Given the description of an element on the screen output the (x, y) to click on. 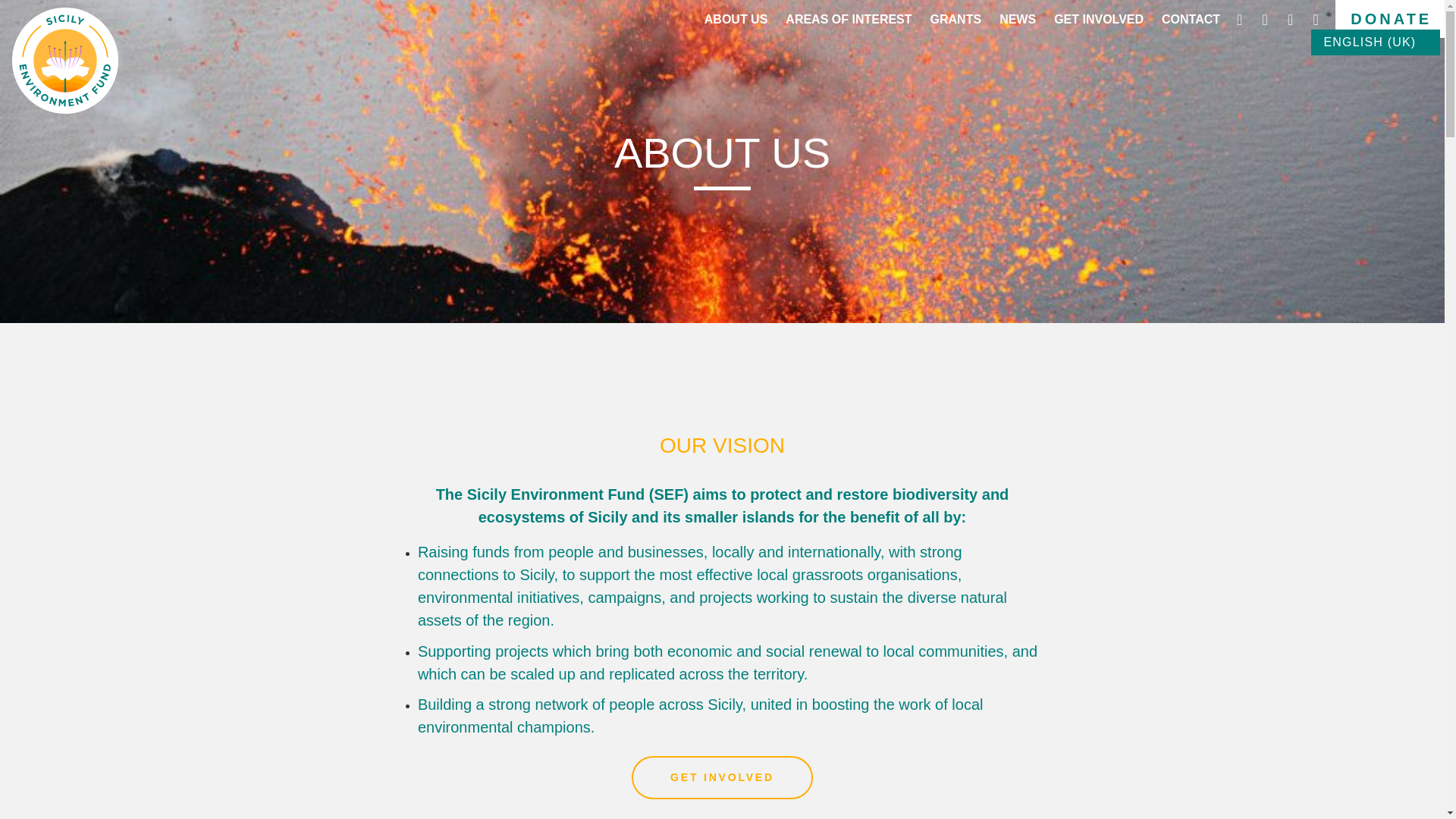
ITALIANO (1369, 68)
ABOUT US (736, 22)
twitter (1292, 19)
AREAS OF INTEREST (848, 22)
Italiano (1369, 68)
NEWS (1016, 22)
GET INVOLVED (721, 777)
GRANTS (955, 22)
instagram (1241, 19)
GET INVOLVED (1098, 22)
linkedin (1315, 19)
facebook (1266, 19)
CONTACT (1190, 22)
